Given the description of an element on the screen output the (x, y) to click on. 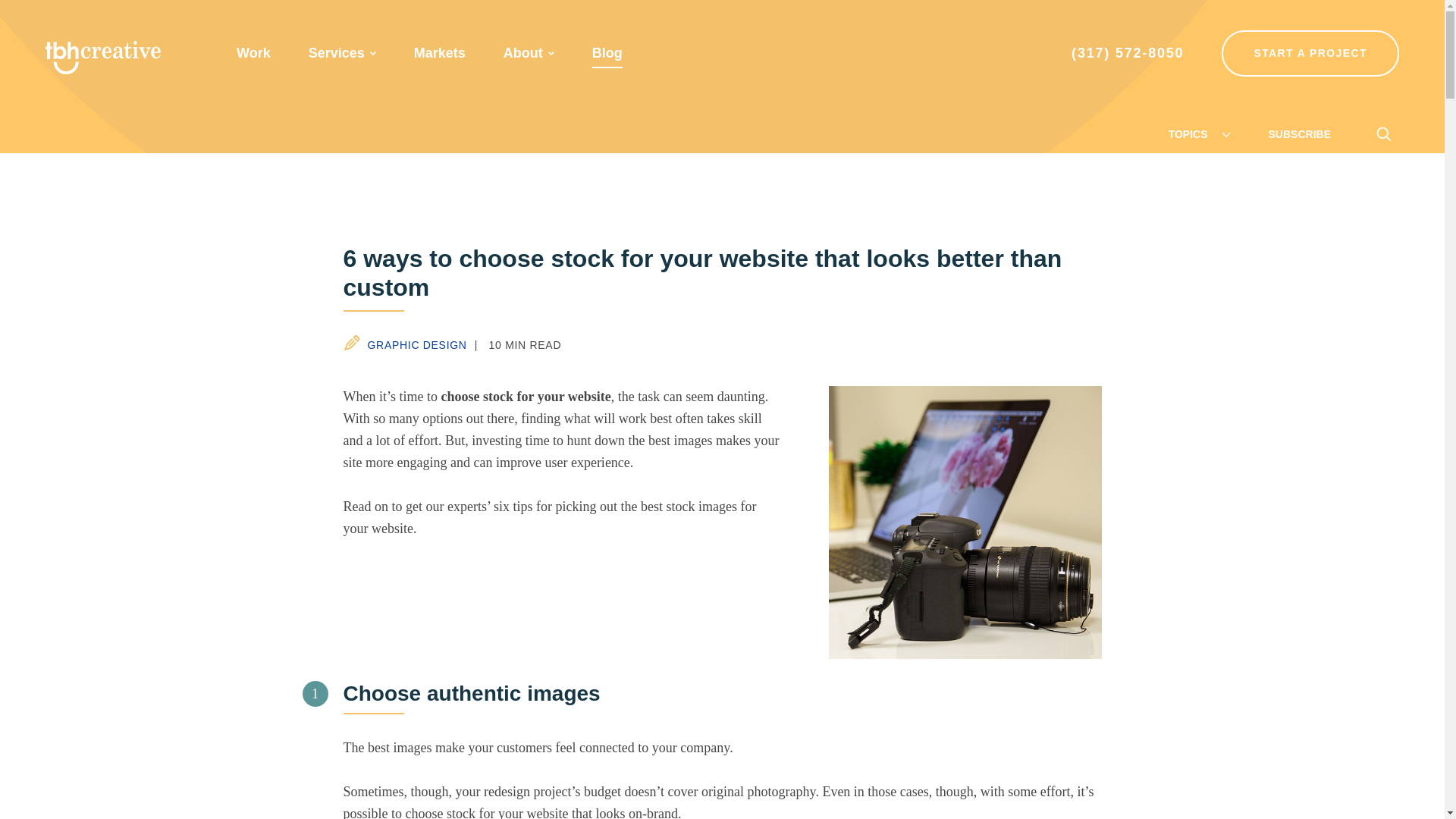
SUBSCRIBE (1299, 134)
GRAPHIC DESIGN (403, 344)
Markets (439, 52)
About (523, 52)
Work (252, 52)
Blog (607, 52)
SUBSCRIBE (1299, 134)
Services (336, 52)
TBH Creative (102, 57)
TOPICS (1199, 134)
